Given the description of an element on the screen output the (x, y) to click on. 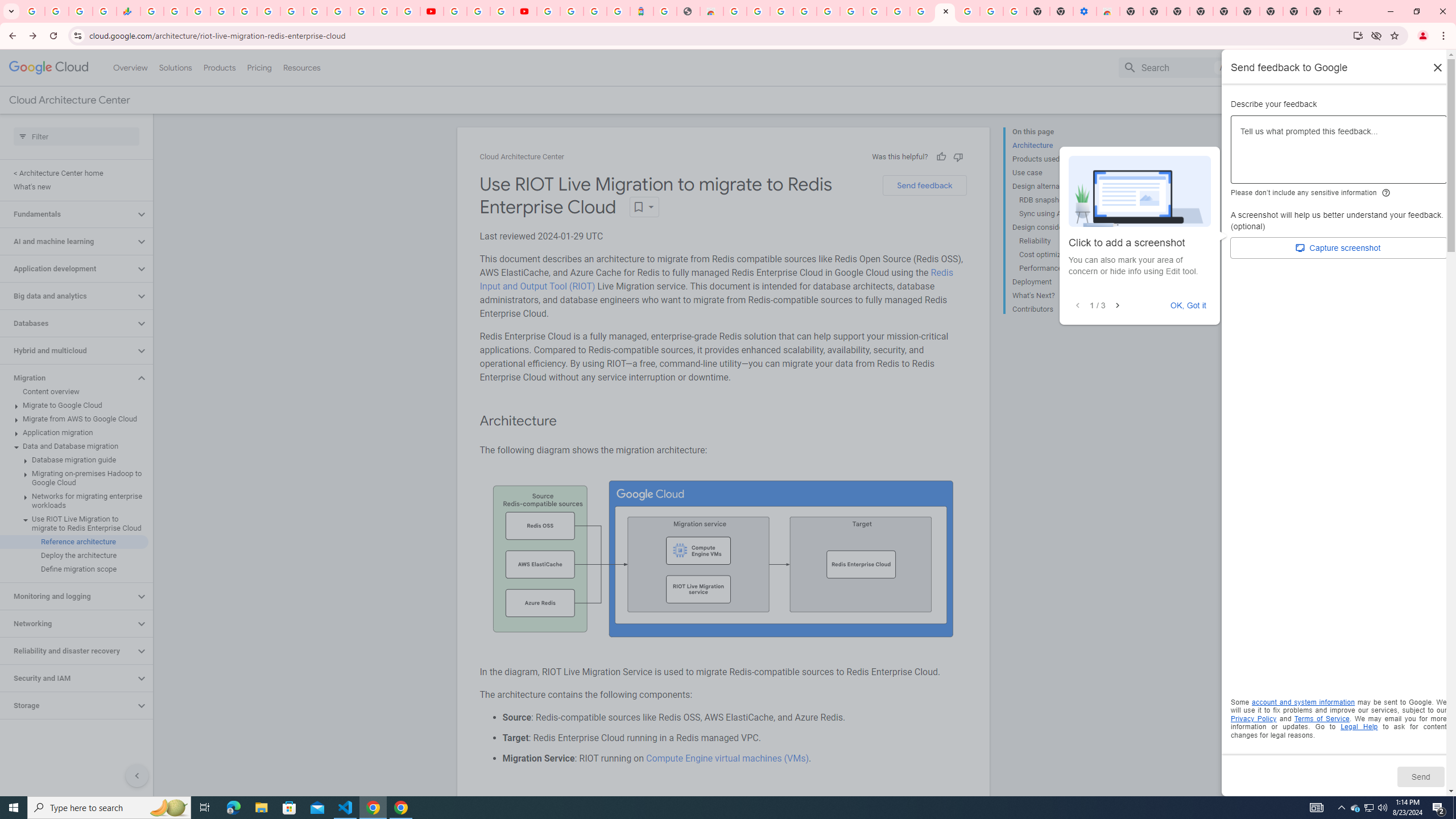
Database migration guide (74, 459)
Sign in - Google Accounts (547, 11)
Browse the Google Chrome Community - Google Chrome Community (921, 11)
Sign in - Google Accounts (571, 11)
Google Account Help (850, 11)
Sign in - Google Accounts (338, 11)
Reliability and disaster recovery (67, 650)
YouTube (431, 11)
Google Workspace Admin Community (32, 11)
YouTube (314, 11)
